Given the description of an element on the screen output the (x, y) to click on. 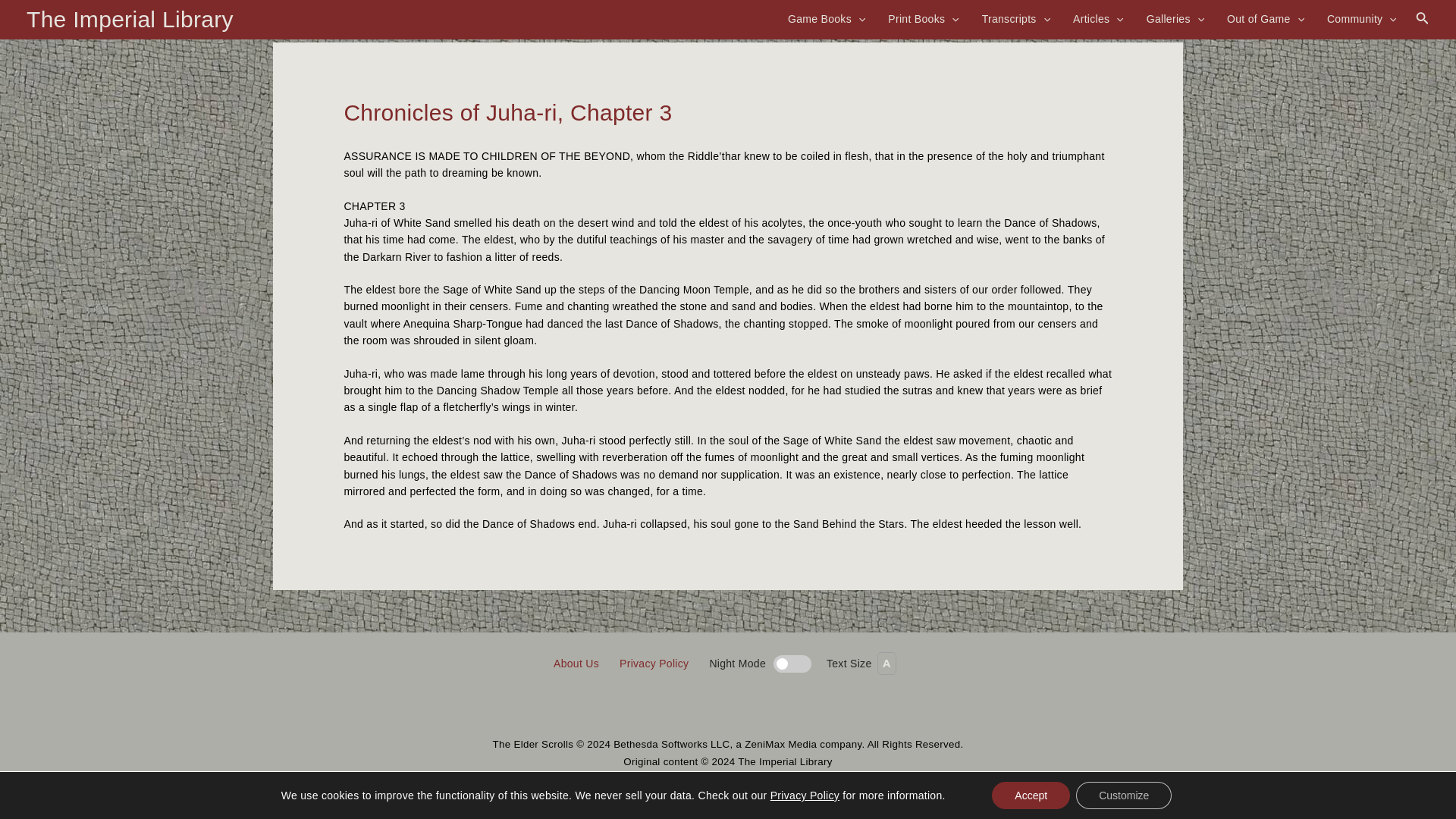
Print Books (922, 18)
Transcripts (1016, 18)
Articles (1097, 18)
Game Books (826, 18)
The Imperial Library (129, 18)
